Given the description of an element on the screen output the (x, y) to click on. 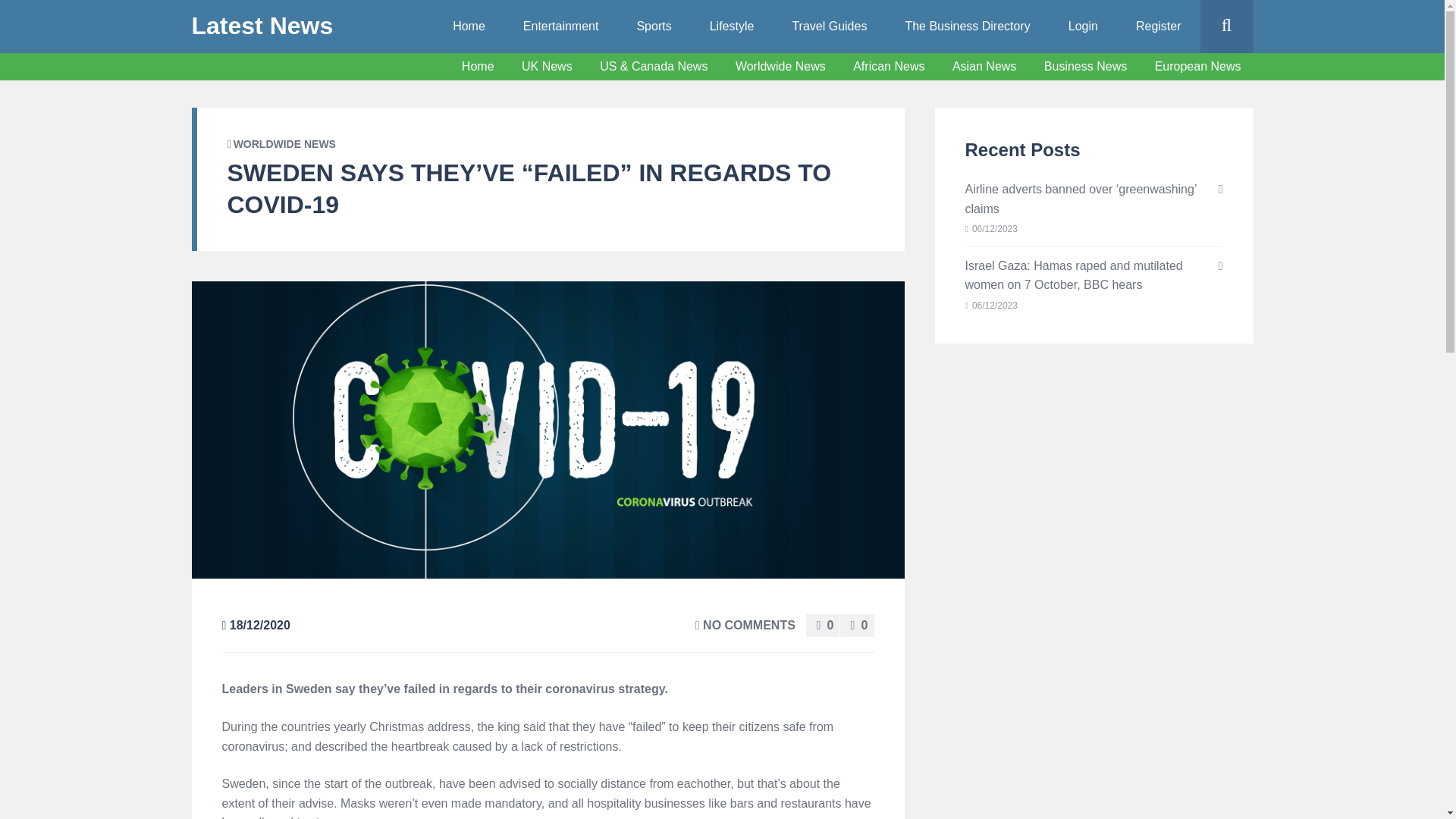
The Business Directory (966, 26)
Home (477, 66)
Latest News (261, 25)
UK News (547, 66)
Home (477, 65)
Entertainment (560, 26)
Worldwide News (780, 65)
UK News (547, 65)
Travel Guides (829, 26)
Go (1256, 79)
